Given the description of an element on the screen output the (x, y) to click on. 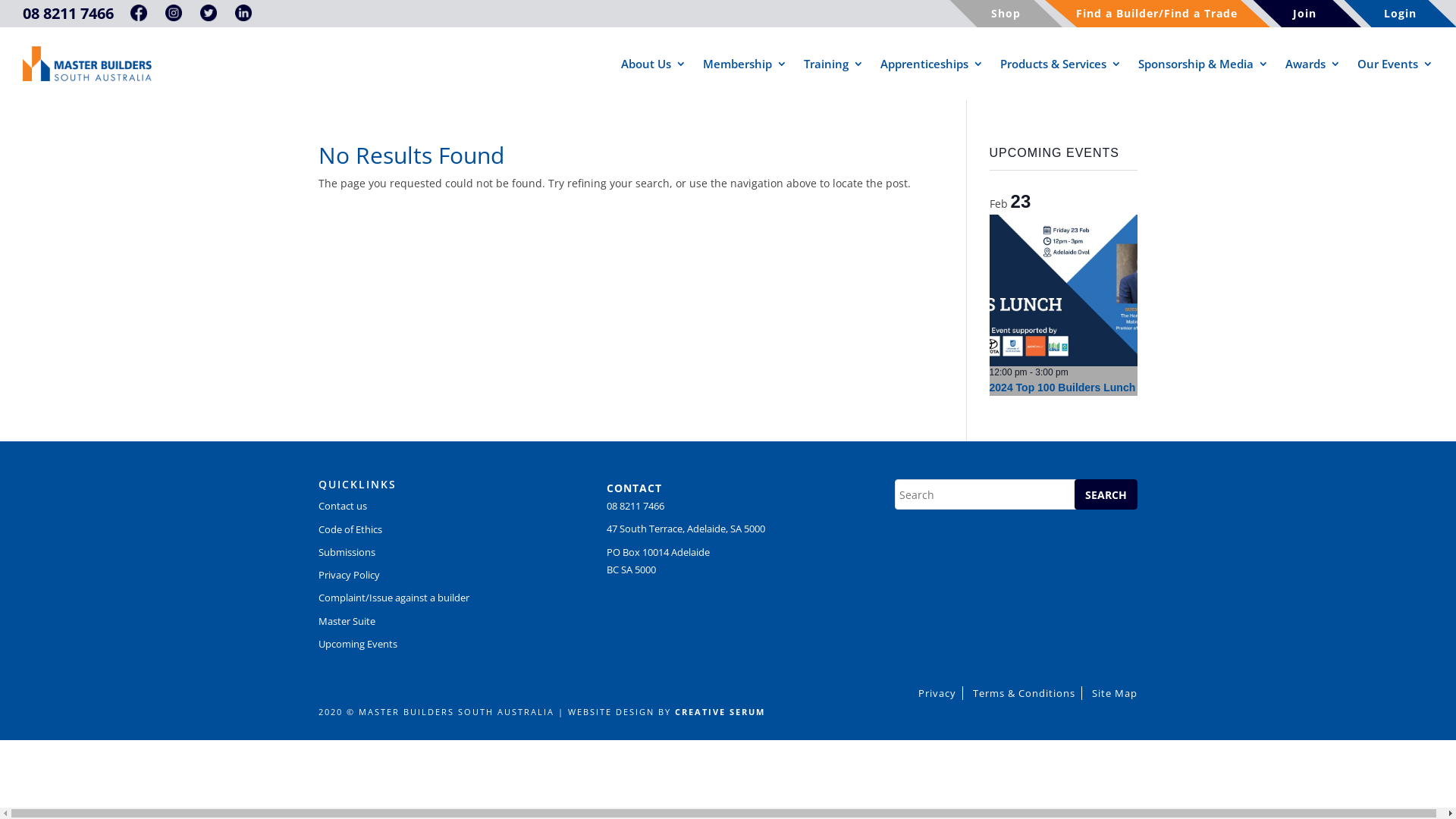
Find a Builder/Find a Trade Element type: text (1156, 13)
Our Events Element type: text (1395, 63)
Code of Ethics Element type: text (350, 529)
2024 Top 100 Builders Lunch Element type: text (1062, 387)
Terms & Conditions Element type: text (1024, 692)
Awards Element type: text (1312, 63)
Master Suite Element type: text (346, 620)
08 8211 7466 Element type: text (635, 505)
CREATIVE SERUM Element type: text (719, 711)
Privacy Policy Element type: text (348, 574)
Contact us Element type: text (342, 505)
08 8211 7466 Element type: text (67, 13)
SEARCH Element type: text (1105, 494)
Site Map Element type: text (1111, 692)
Apprenticeships Element type: text (931, 63)
Privacy Element type: text (937, 692)
Complaint/Issue against a builder Element type: text (393, 597)
About Us Element type: text (653, 63)
Training Element type: text (833, 63)
Membership Element type: text (744, 63)
Join Element type: text (1304, 13)
Upcoming Events Element type: text (357, 643)
Submissions Element type: text (346, 551)
Sponsorship & Media Element type: text (1203, 63)
Products & Services Element type: text (1060, 63)
Shop Element type: text (1005, 13)
